Given the description of an element on the screen output the (x, y) to click on. 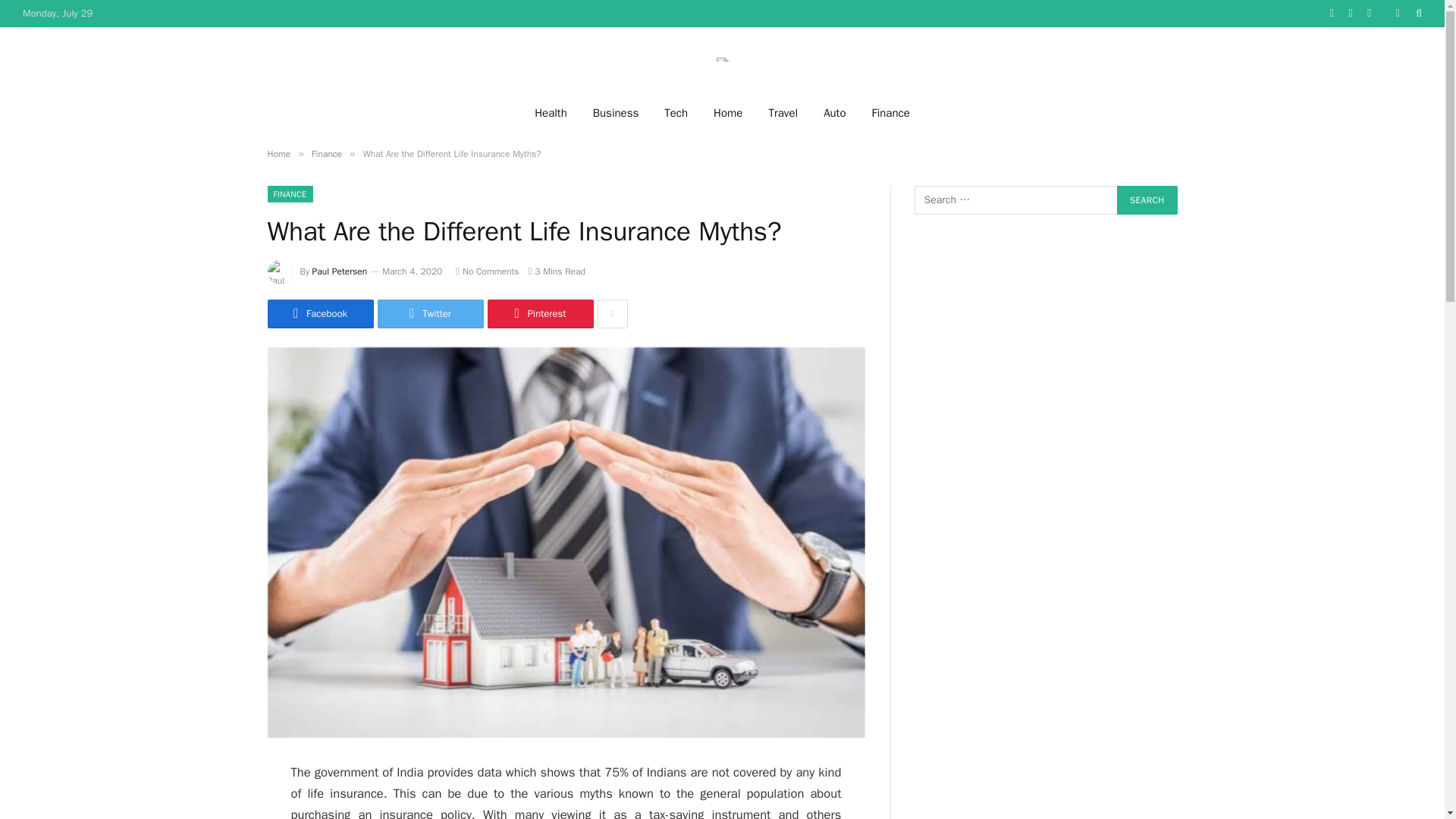
Twitter (430, 313)
Finance (890, 112)
Finance (326, 153)
Paul Petersen (340, 271)
Business (615, 112)
Share on Pinterest (539, 313)
Auto (834, 112)
Search (1146, 199)
Share on Facebook (319, 313)
Health (550, 112)
Switch to Dark Design - easier on eyes. (1397, 13)
Facebook (319, 313)
Travel (782, 112)
Home (277, 153)
